Given the description of an element on the screen output the (x, y) to click on. 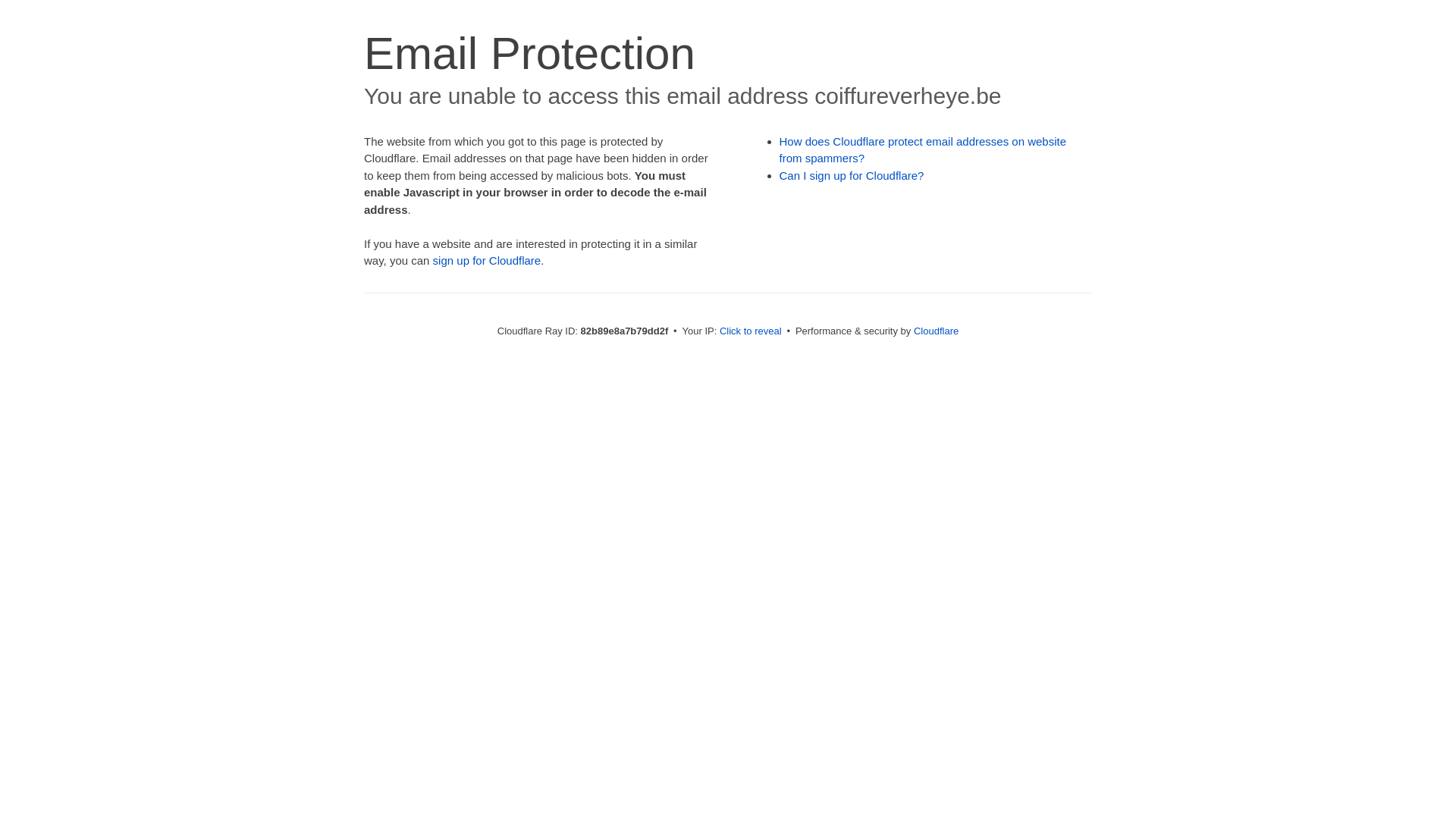
Cloudflare Element type: text (935, 330)
sign up for Cloudflare Element type: text (487, 260)
Click to reveal Element type: text (750, 330)
Can I sign up for Cloudflare? Element type: text (851, 175)
